Given the description of an element on the screen output the (x, y) to click on. 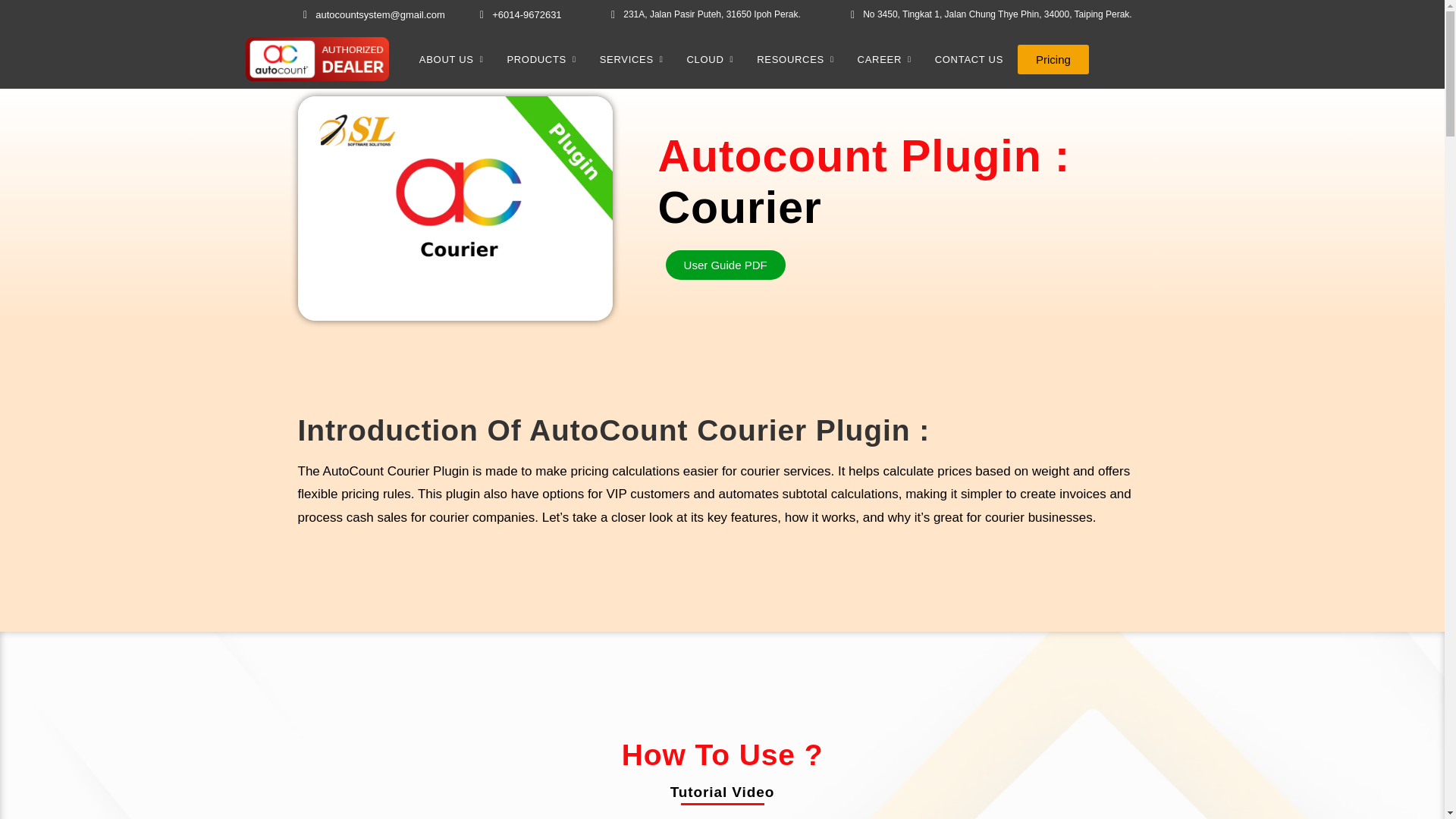
SERVICES (635, 59)
RESOURCES (799, 59)
CLOUD (714, 59)
CONTACT US (969, 59)
CAREER (889, 59)
ABOUT US (456, 59)
PRODUCTS (545, 59)
231A, Jalan Pasir Puteh, 31650 Ipoh Perak. (703, 14)
